Given the description of an element on the screen output the (x, y) to click on. 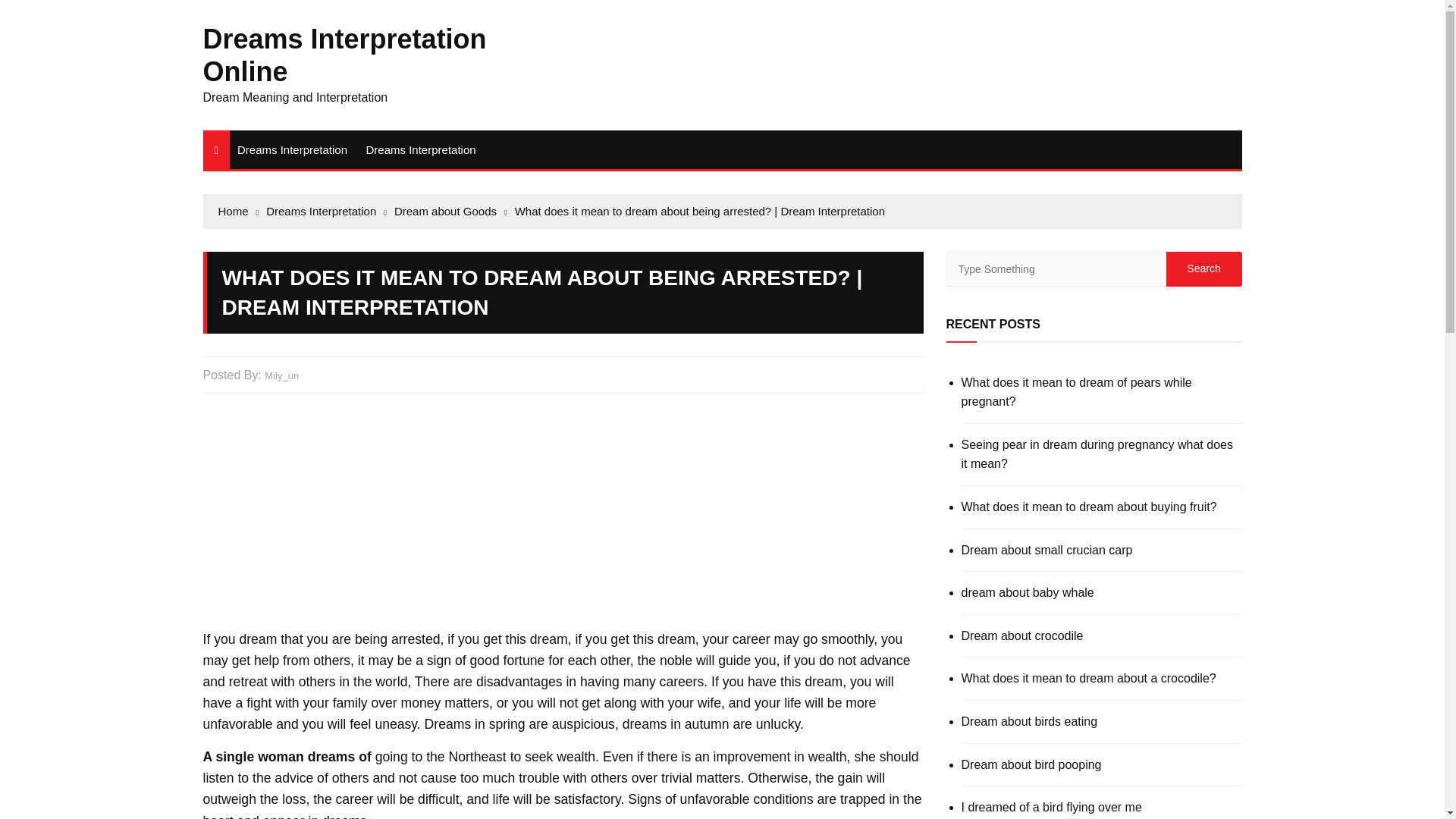
Search (1203, 268)
Dreams Interpretation Online (344, 54)
Dreams Interpretation (292, 149)
Dreams Interpretation (420, 149)
